Given the description of an element on the screen output the (x, y) to click on. 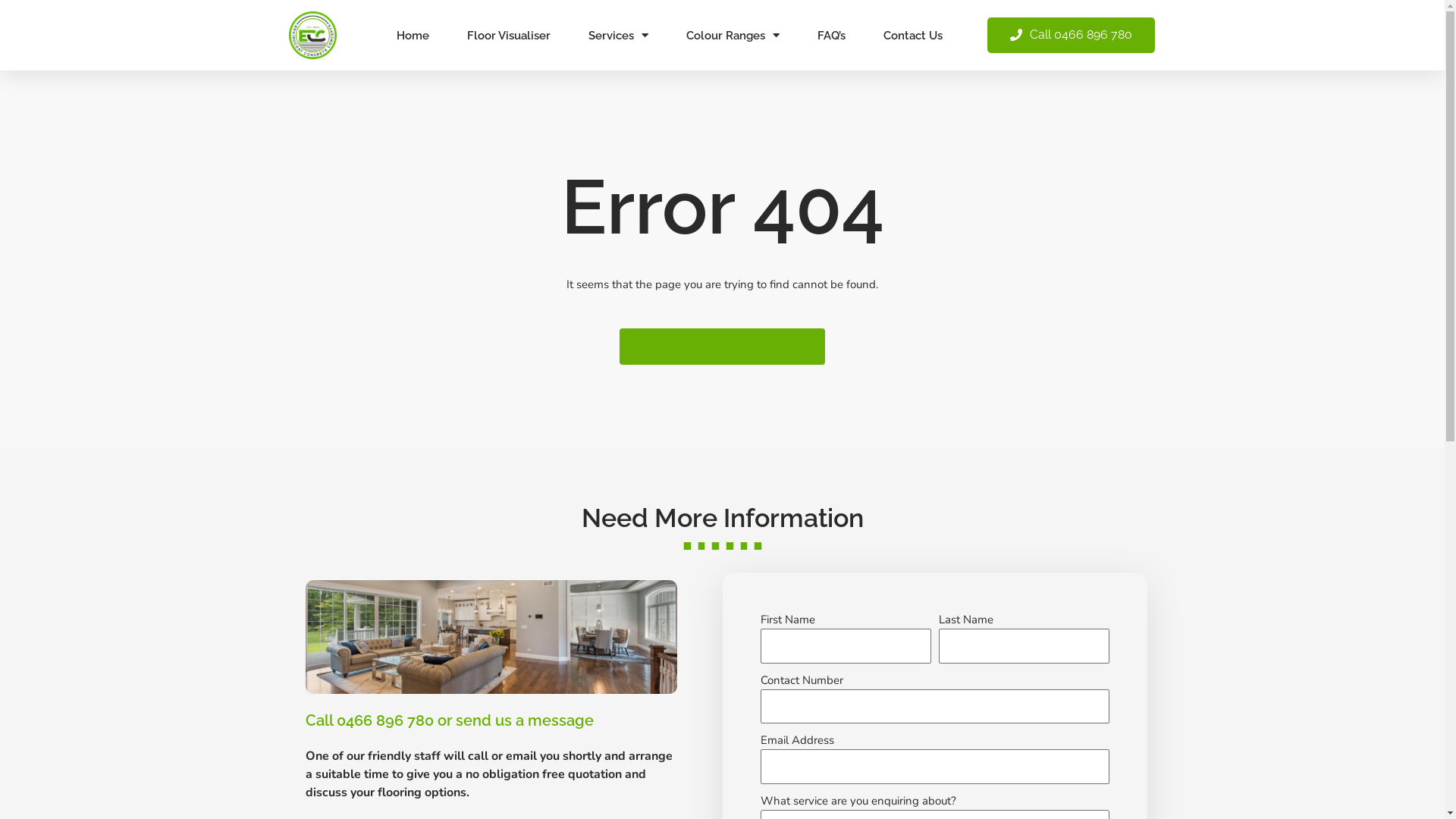
Colour Ranges Element type: text (732, 35)
GO BACK TO HOMEPAGE Element type: text (722, 346)
Contact Us Element type: text (912, 35)
Services Element type: text (618, 35)
Call 0466 896 780 Element type: text (1070, 35)
Floor Visualiser Element type: text (508, 35)
Home Element type: text (412, 35)
